Given the description of an element on the screen output the (x, y) to click on. 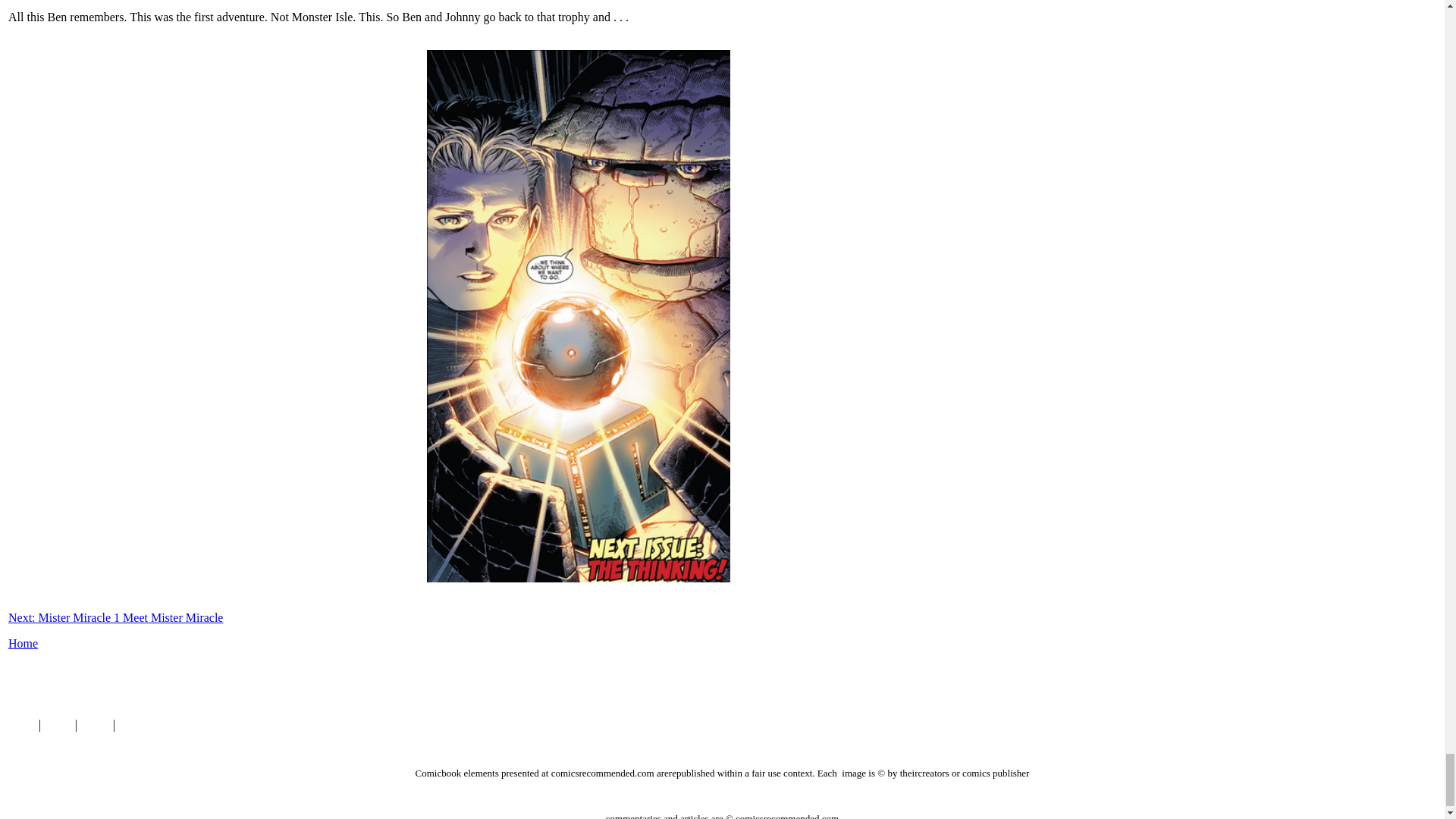
Next: Mister Miracle 1 Meet Mister Miracle (115, 617)
Contact (136, 724)
Home (22, 643)
About (95, 724)
Home (19, 724)
Links (57, 724)
